Given the description of an element on the screen output the (x, y) to click on. 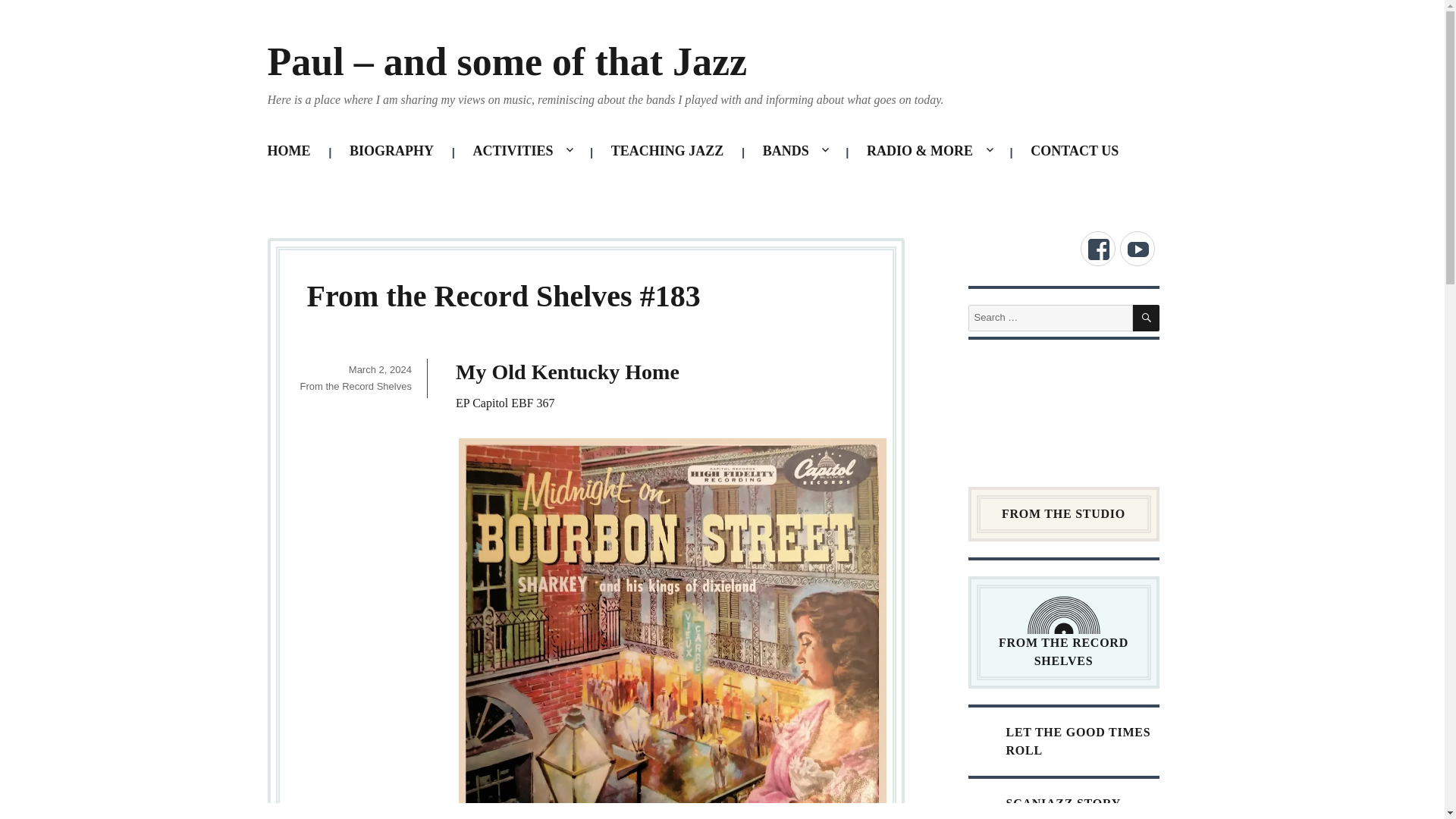
ACTIVITIES (522, 150)
BANDS (795, 150)
BIOGRAPHY (391, 150)
March 2, 2024 (380, 369)
From the Record Shelves (355, 386)
CONTACT US (1075, 150)
HOME (289, 150)
TEACHING JAZZ (666, 150)
